Given the description of an element on the screen output the (x, y) to click on. 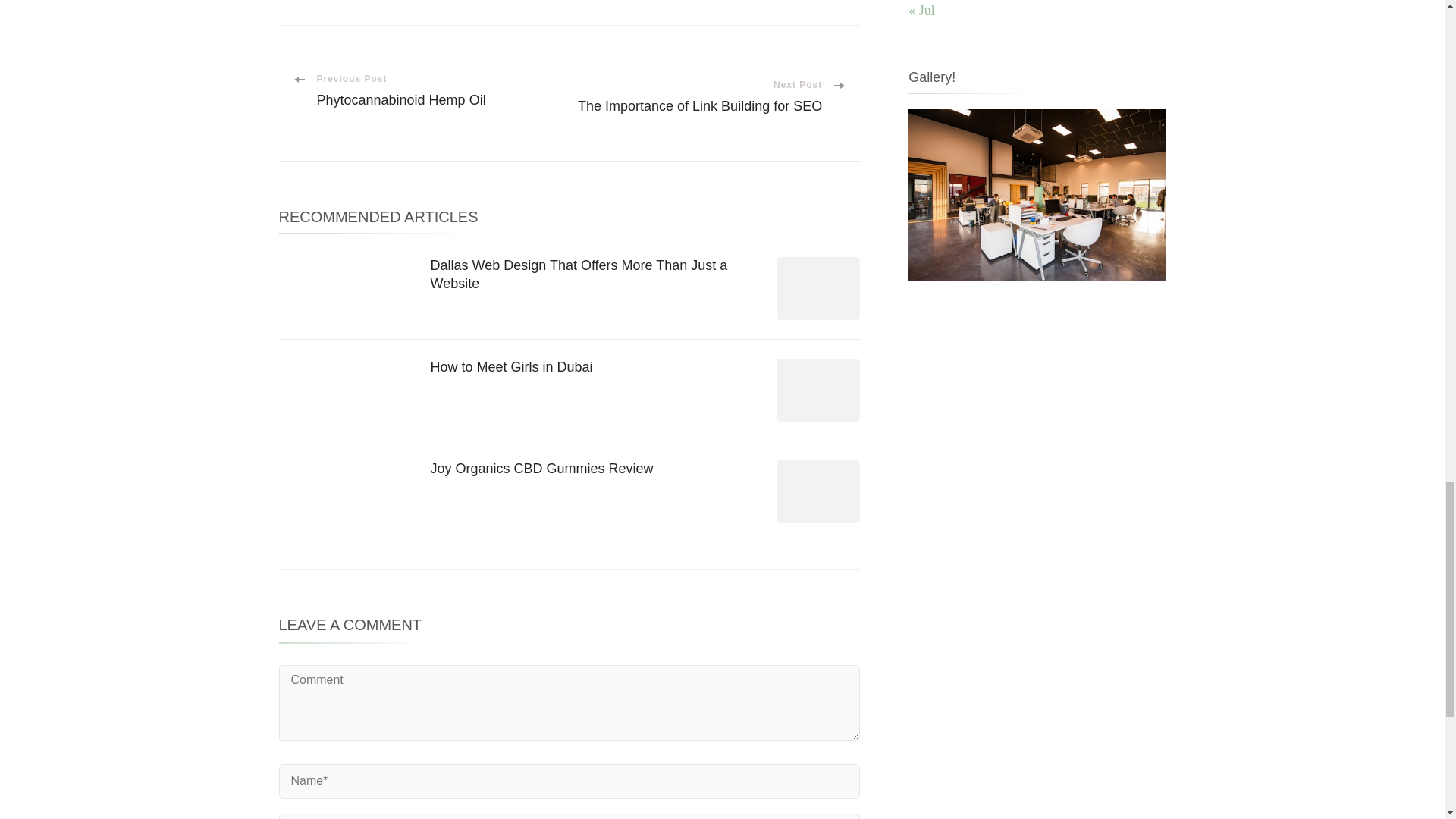
Dallas Web Design That Offers More Than Just a Website (579, 273)
How to Meet Girls in Dubai (511, 366)
Joy Organics CBD Gummies Review (541, 468)
